Given the description of an element on the screen output the (x, y) to click on. 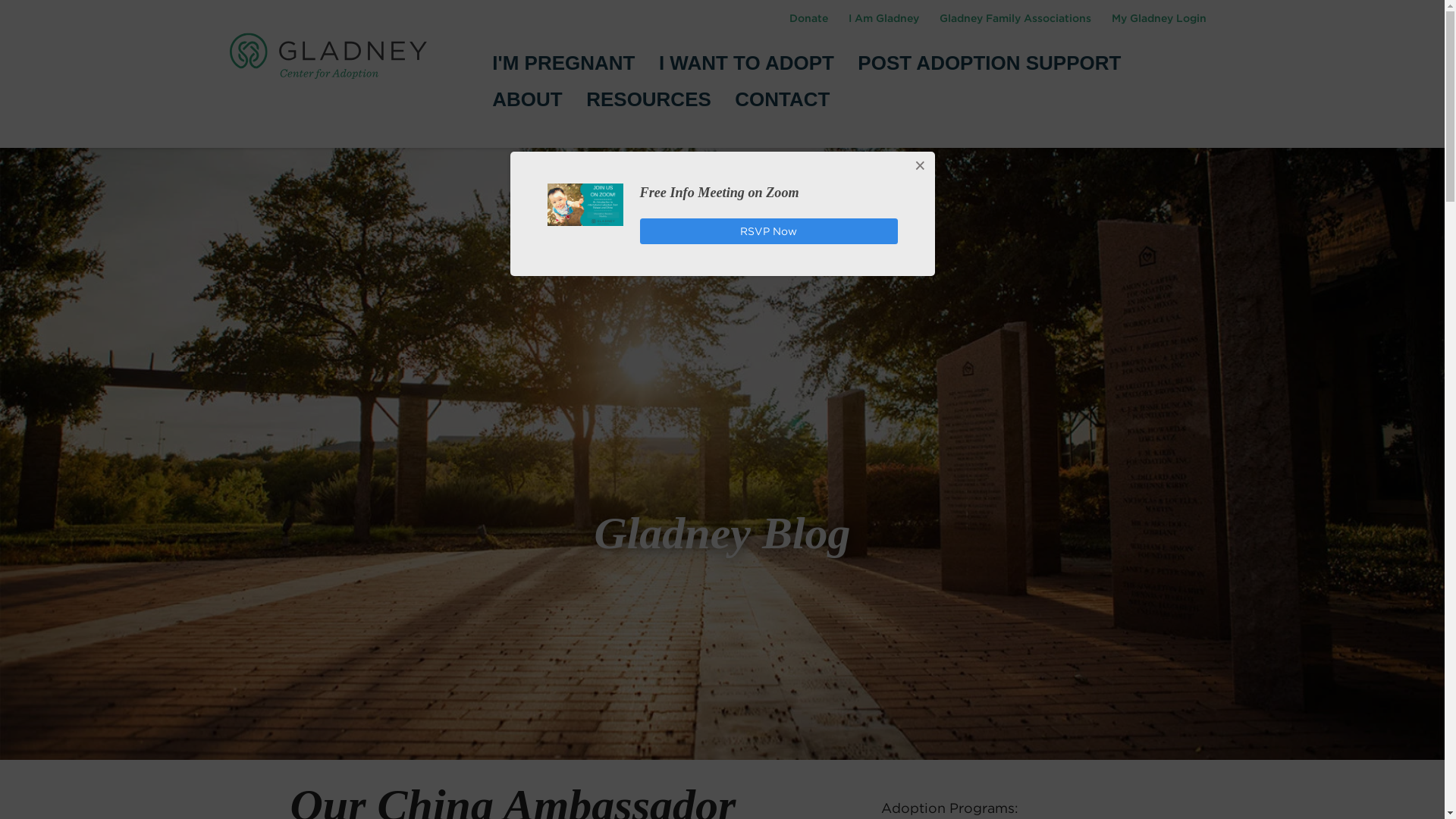
Donate (808, 17)
I Am Gladney (884, 17)
I'M PREGNANT (563, 63)
I WANT TO ADOPT (745, 63)
ABOUT (526, 99)
My Gladney Login (1157, 17)
RESOURCES (649, 99)
Gladney Family Associations (1016, 17)
CONTACT (782, 99)
Gladney Center for Adoption (327, 55)
POST ADOPTION SUPPORT (989, 63)
